Given the description of an element on the screen output the (x, y) to click on. 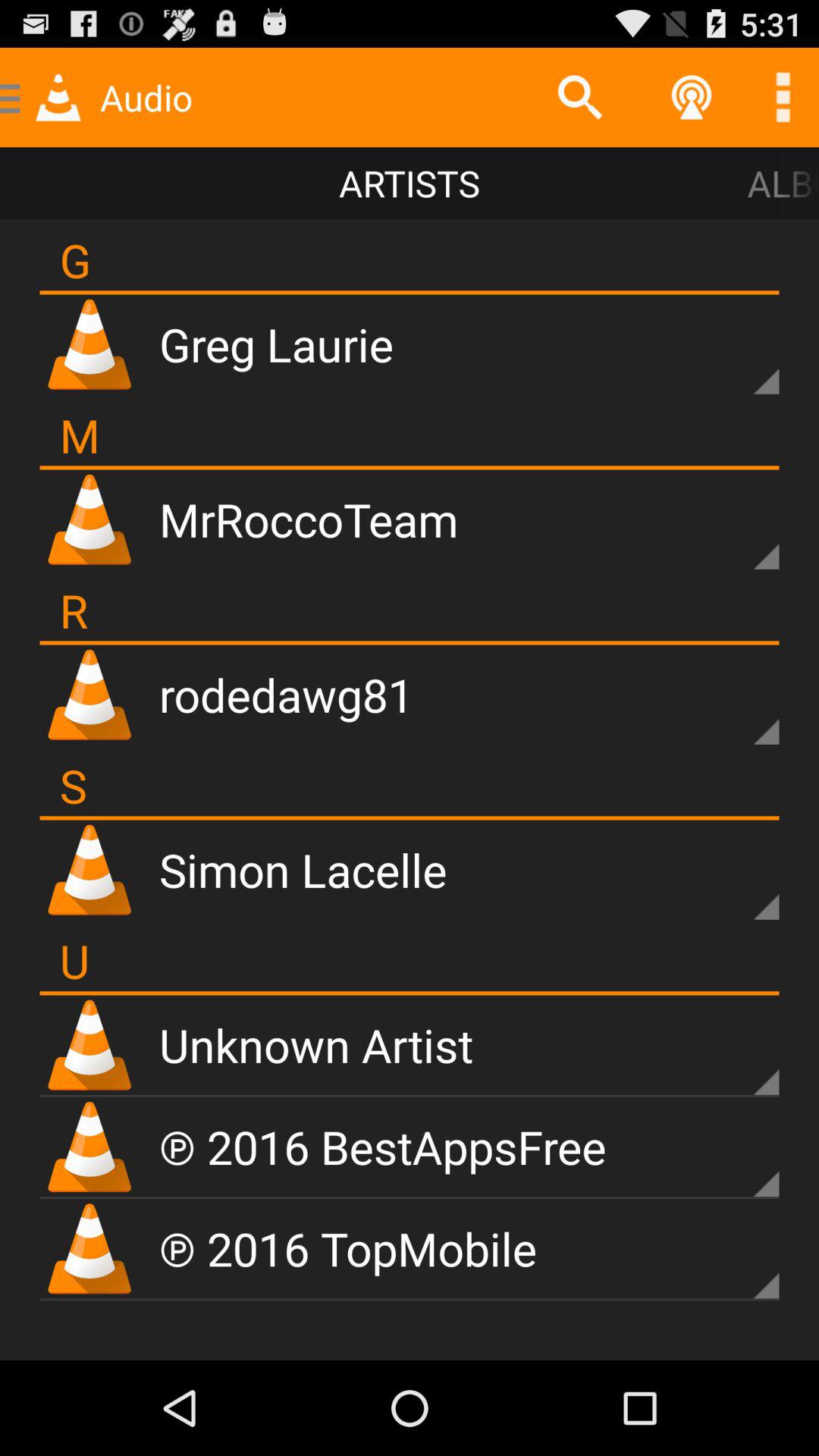
choose the icon to the right of the audio (579, 97)
